Given the description of an element on the screen output the (x, y) to click on. 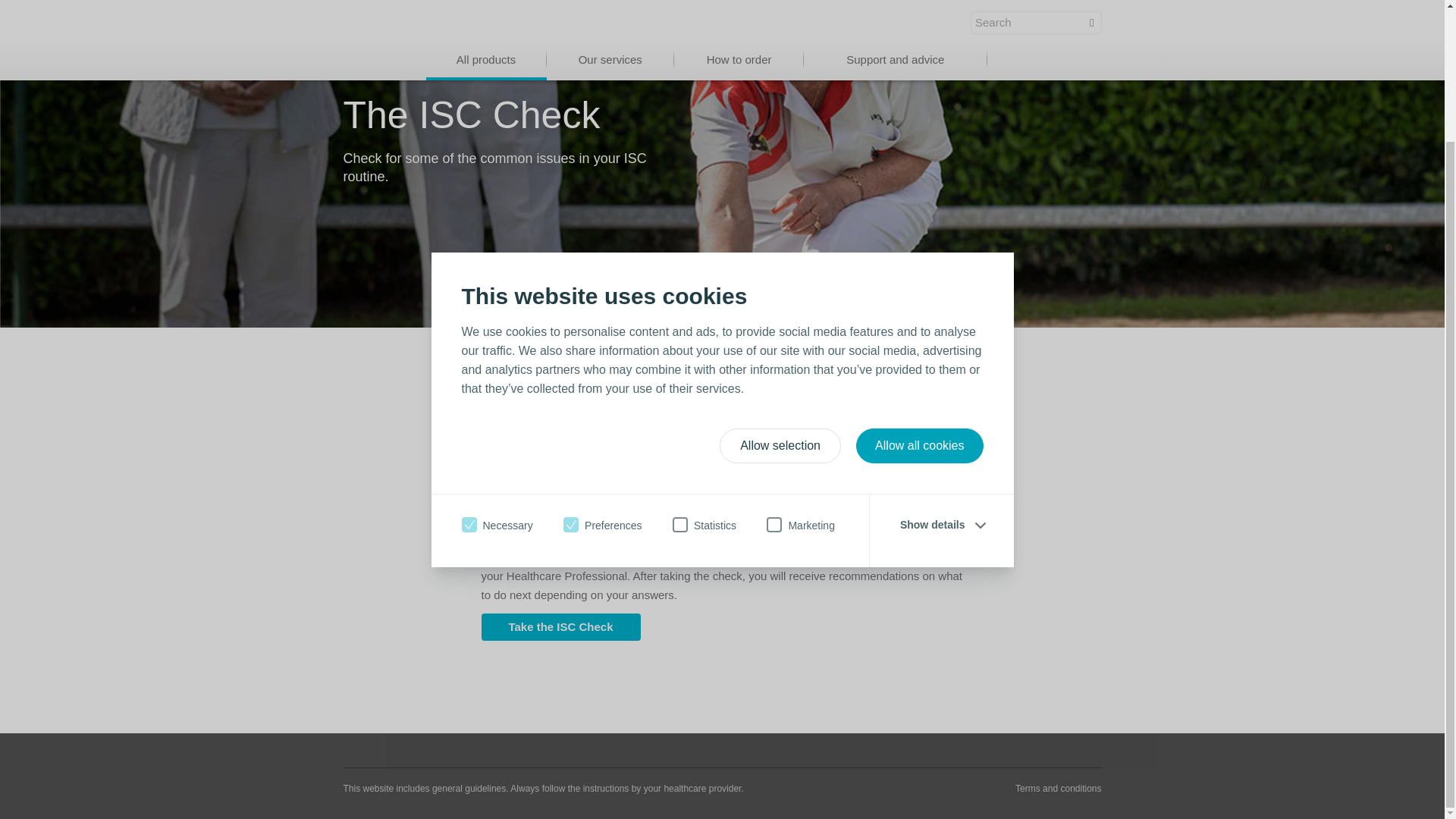
Allow all cookies (919, 284)
Show details (941, 364)
Allow selection (780, 284)
Take the ISC Check (560, 626)
Take the ISC Check (560, 626)
